Given the description of an element on the screen output the (x, y) to click on. 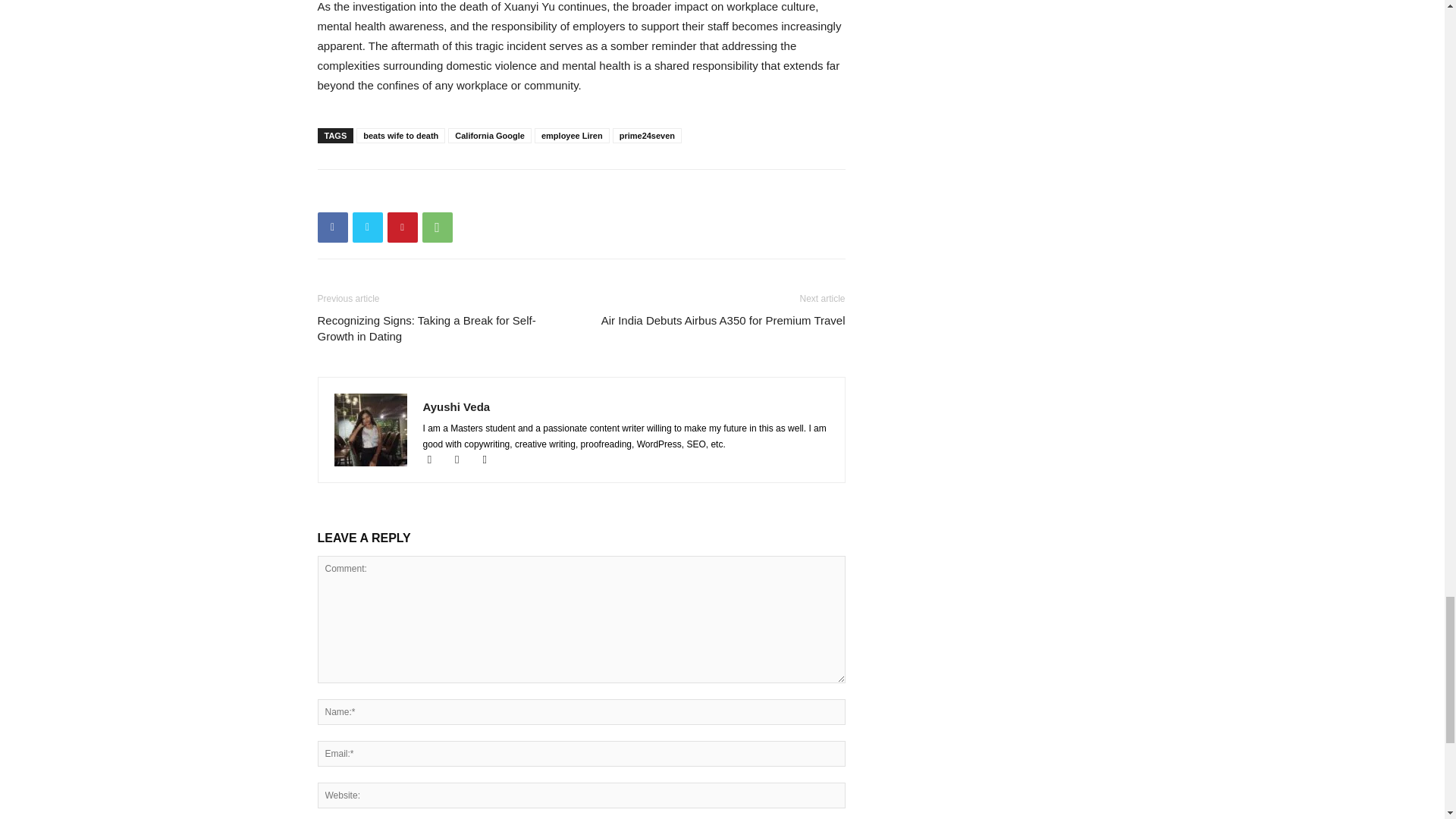
California Google (489, 135)
bottomFacebookLike (430, 193)
employee Liren (572, 135)
prime24seven (646, 135)
beats wife to death (400, 135)
